Given the description of an element on the screen output the (x, y) to click on. 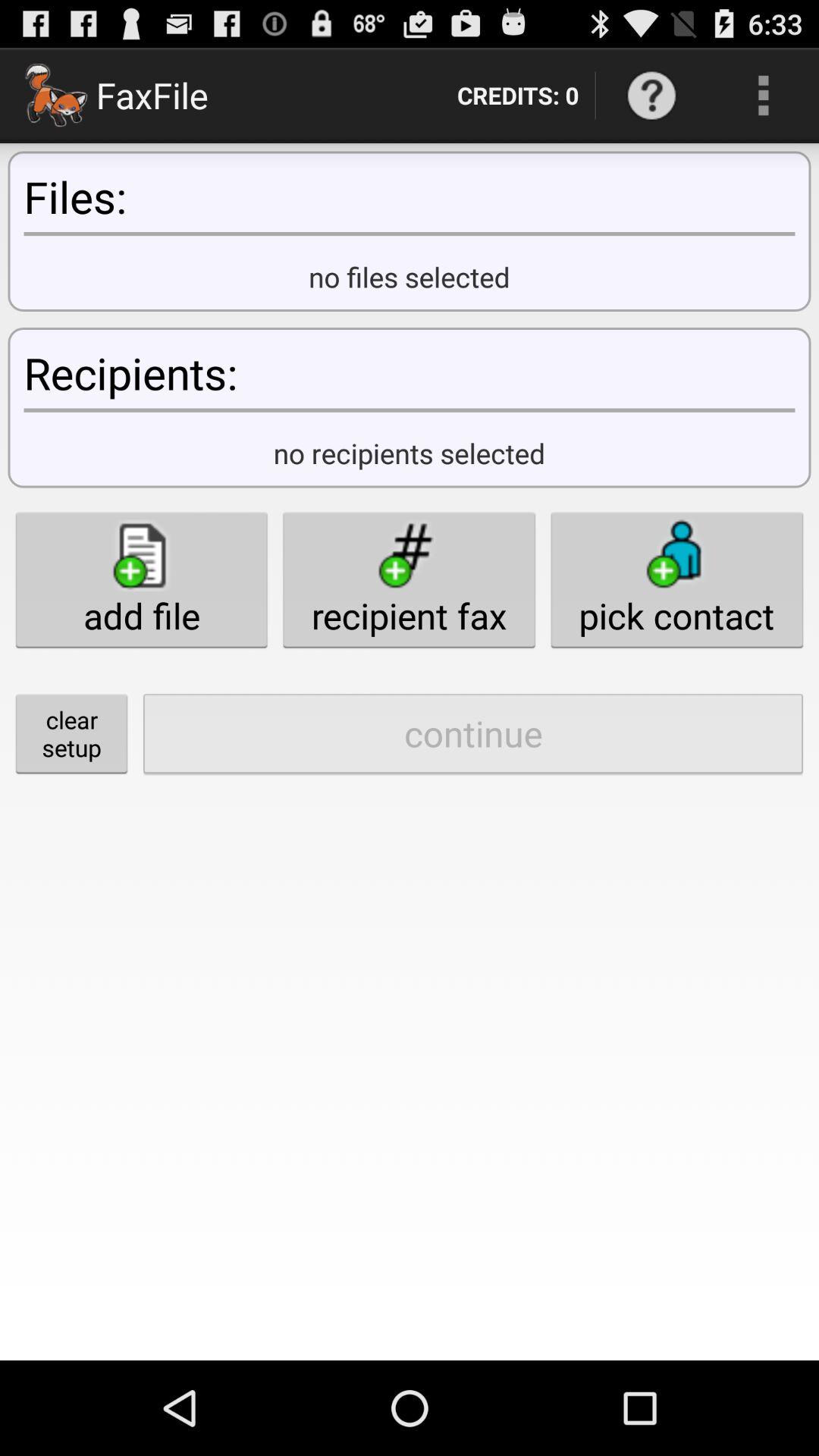
tap the button below the add file icon (473, 733)
